Given the description of an element on the screen output the (x, y) to click on. 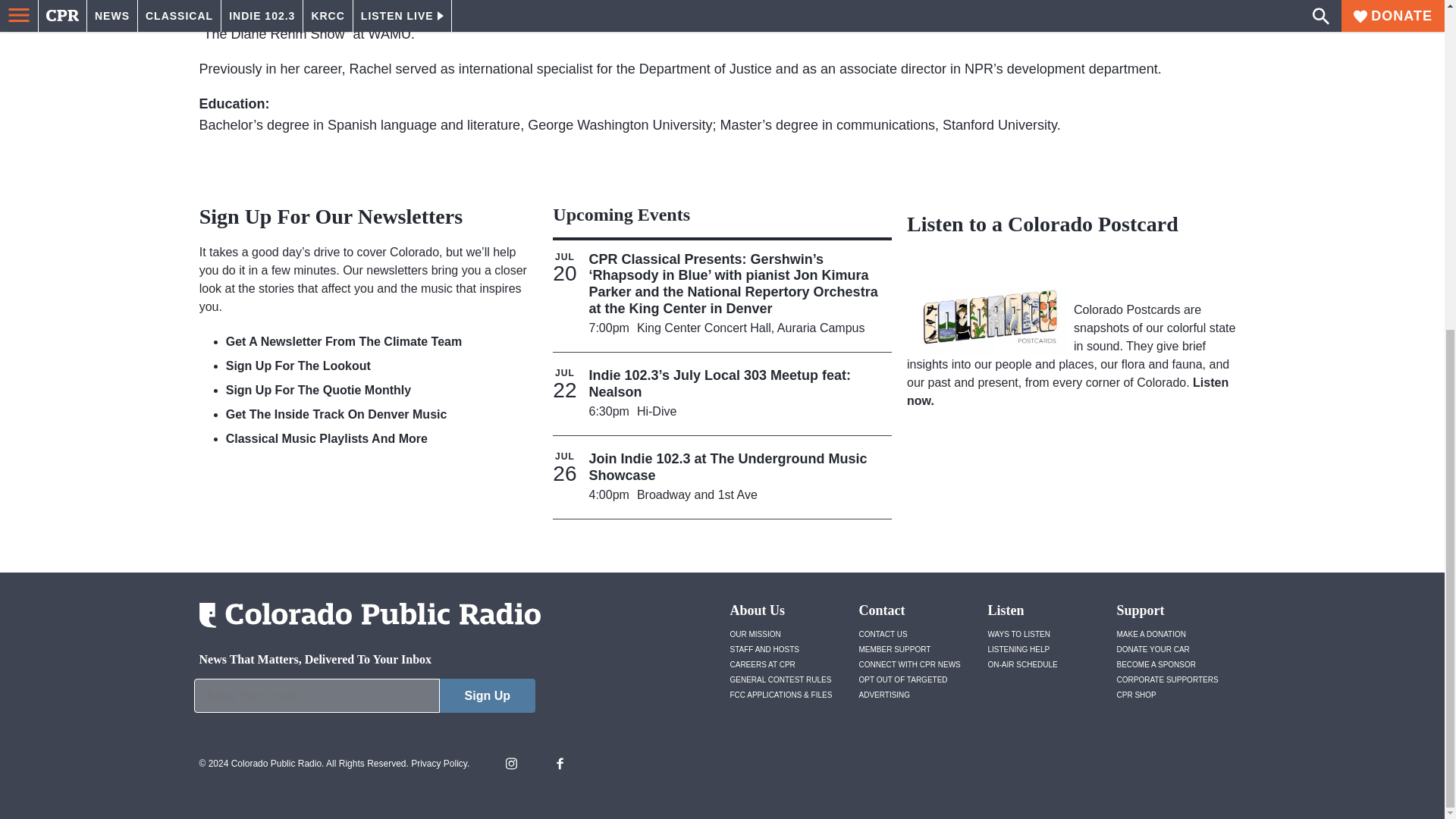
footer (364, 699)
